Given the description of an element on the screen output the (x, y) to click on. 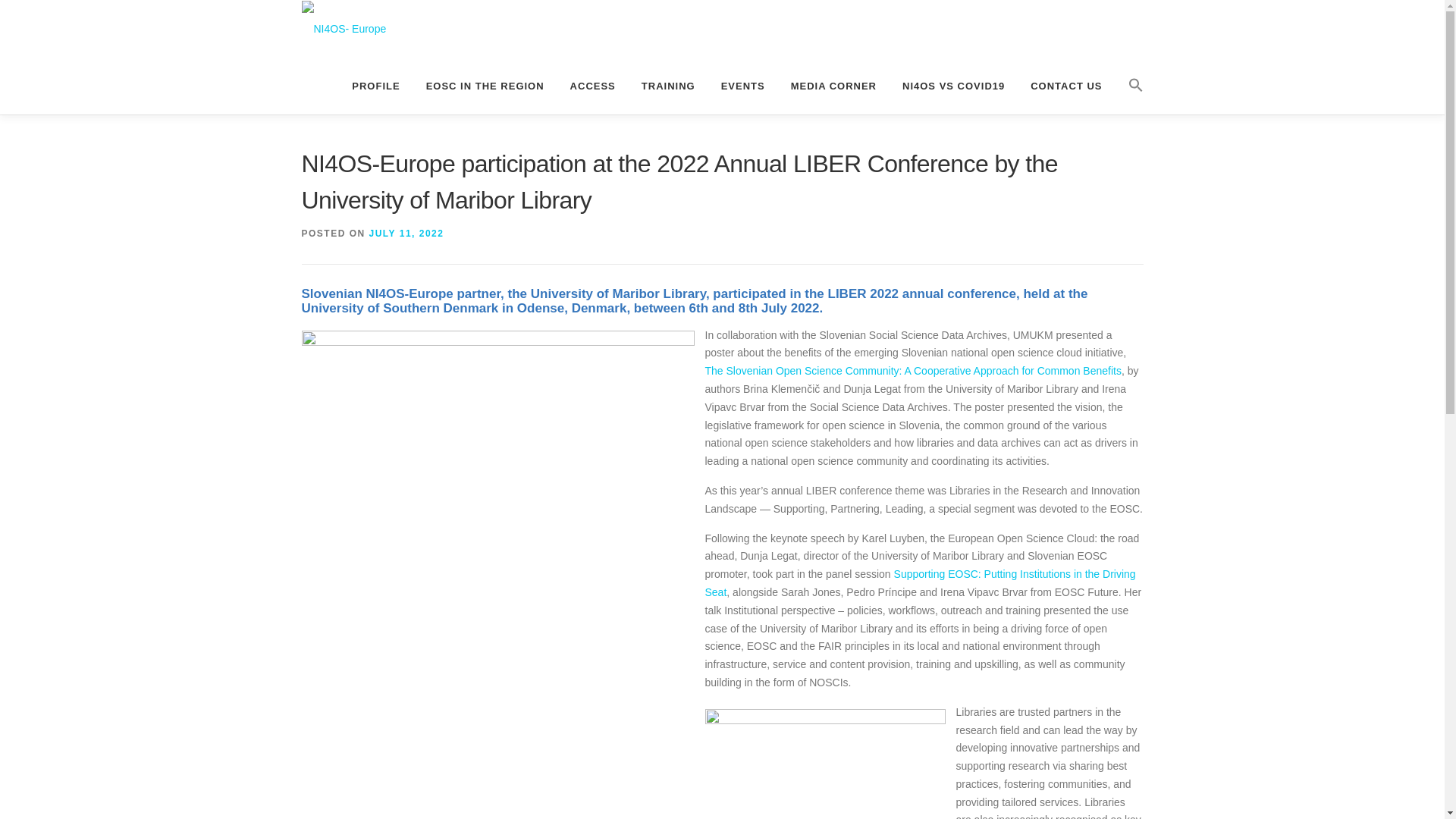
NI4OS VS COVID19 (953, 85)
CONTACT US (1066, 85)
PROFILE (375, 85)
ACCESS (592, 85)
EVENTS (742, 85)
MEDIA CORNER (833, 85)
EOSC IN THE REGION (485, 85)
Supporting EOSC: Putting Institutions in the Driving Seat (919, 583)
JULY 11, 2022 (406, 233)
